Given the description of an element on the screen output the (x, y) to click on. 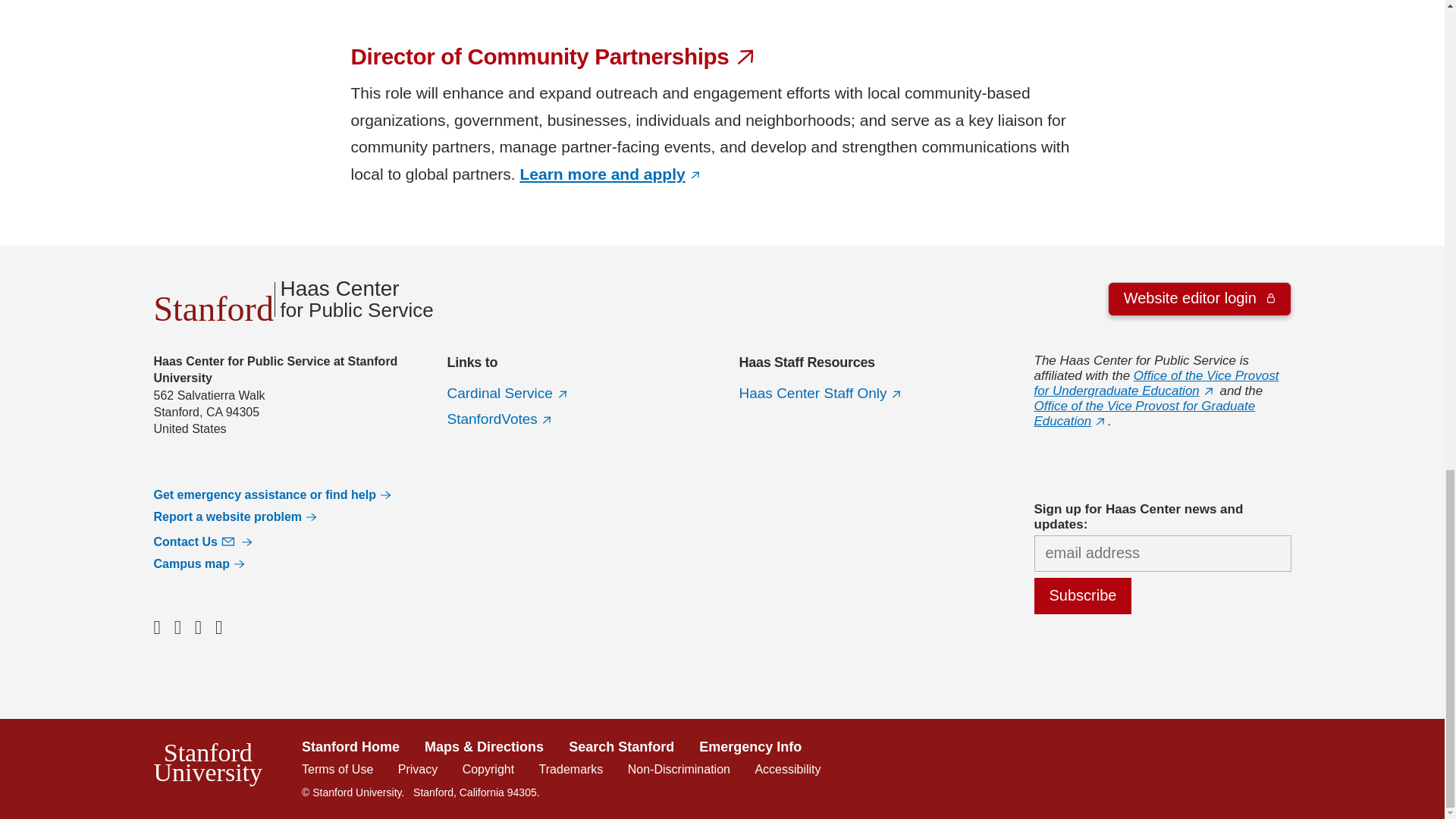
Terms of use for sites (336, 768)
Non-discrimination policy (678, 768)
Report alleged copyright infringement (488, 768)
Ownership and use of Stanford trademarks and images (571, 768)
Privacy and cookie policy (417, 768)
Subscribe (1082, 596)
Report web accessibility issues (787, 768)
